Given the description of an element on the screen output the (x, y) to click on. 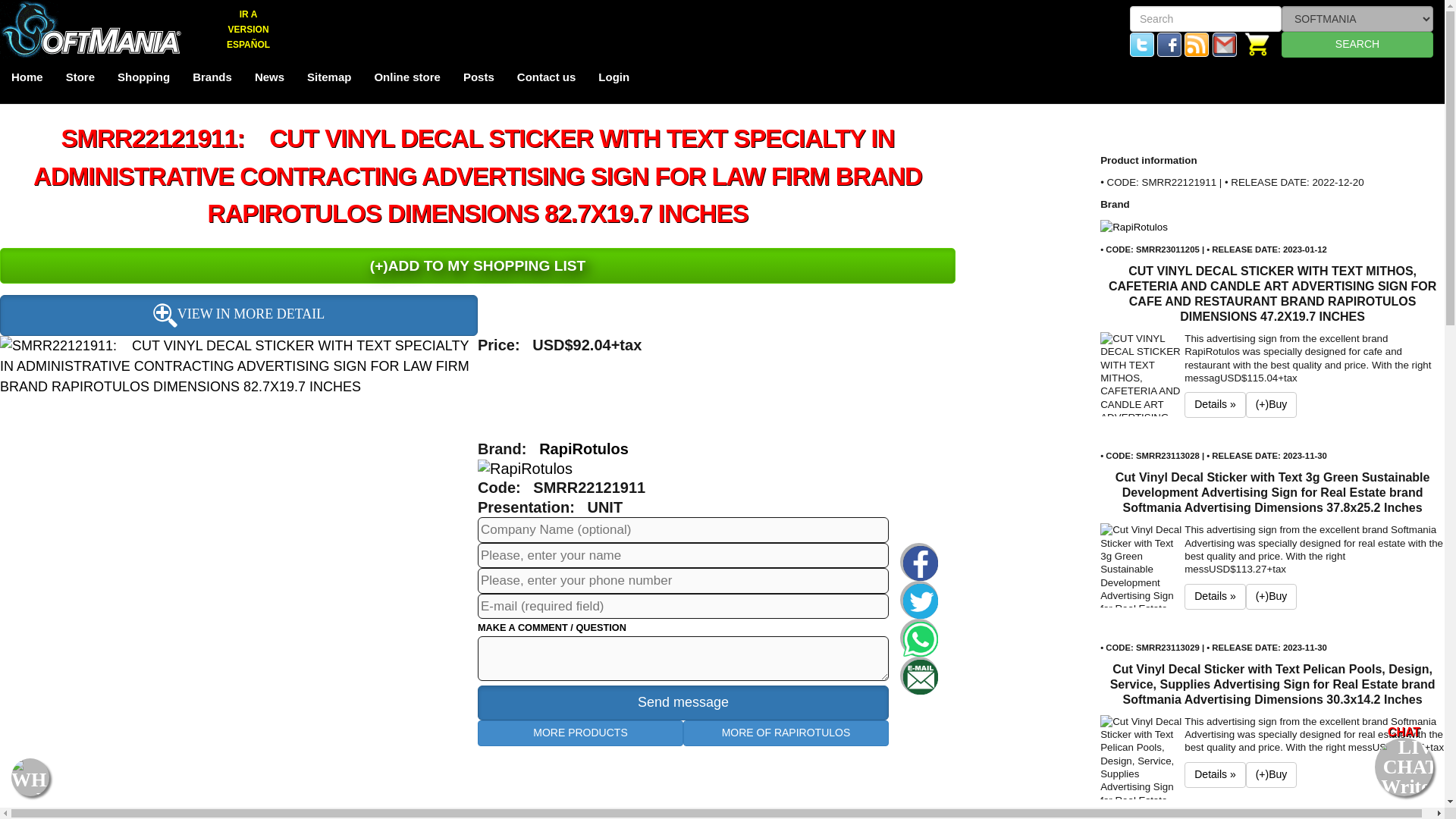
Store (80, 81)
SEARCH (1356, 44)
Brands (211, 81)
Follow us on Facebook! (1168, 42)
Send message (682, 702)
Sitemap (328, 81)
Home (27, 81)
Write to us, we want to know about you (1224, 42)
Shopping Cart (1257, 42)
